Given the description of an element on the screen output the (x, y) to click on. 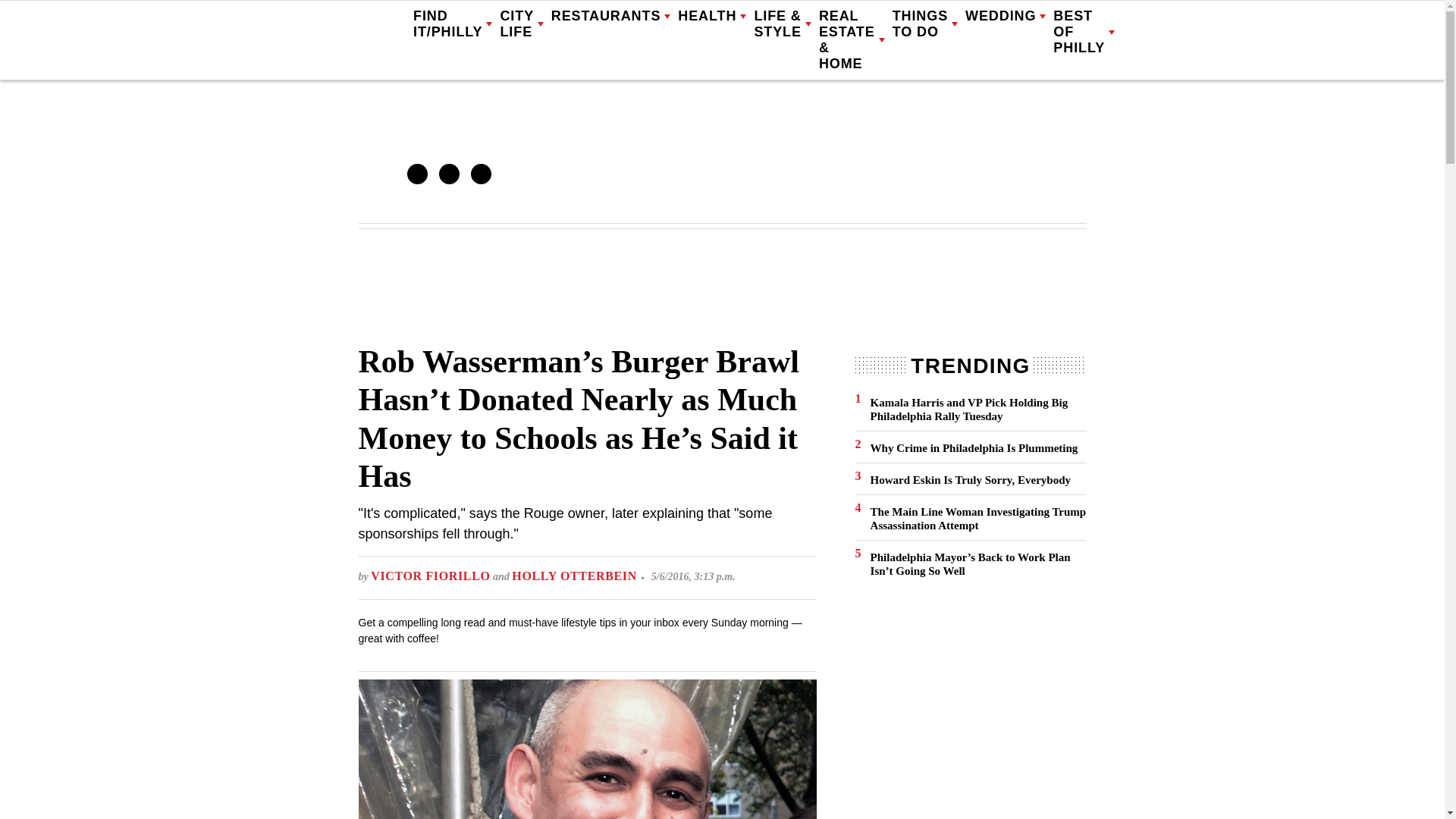
BEST OF PHILLY (1083, 31)
THINGS TO DO (925, 23)
WEDDING (1005, 15)
RESTAURANTS (611, 15)
HEALTH (711, 15)
CITY LIFE (521, 23)
